Given the description of an element on the screen output the (x, y) to click on. 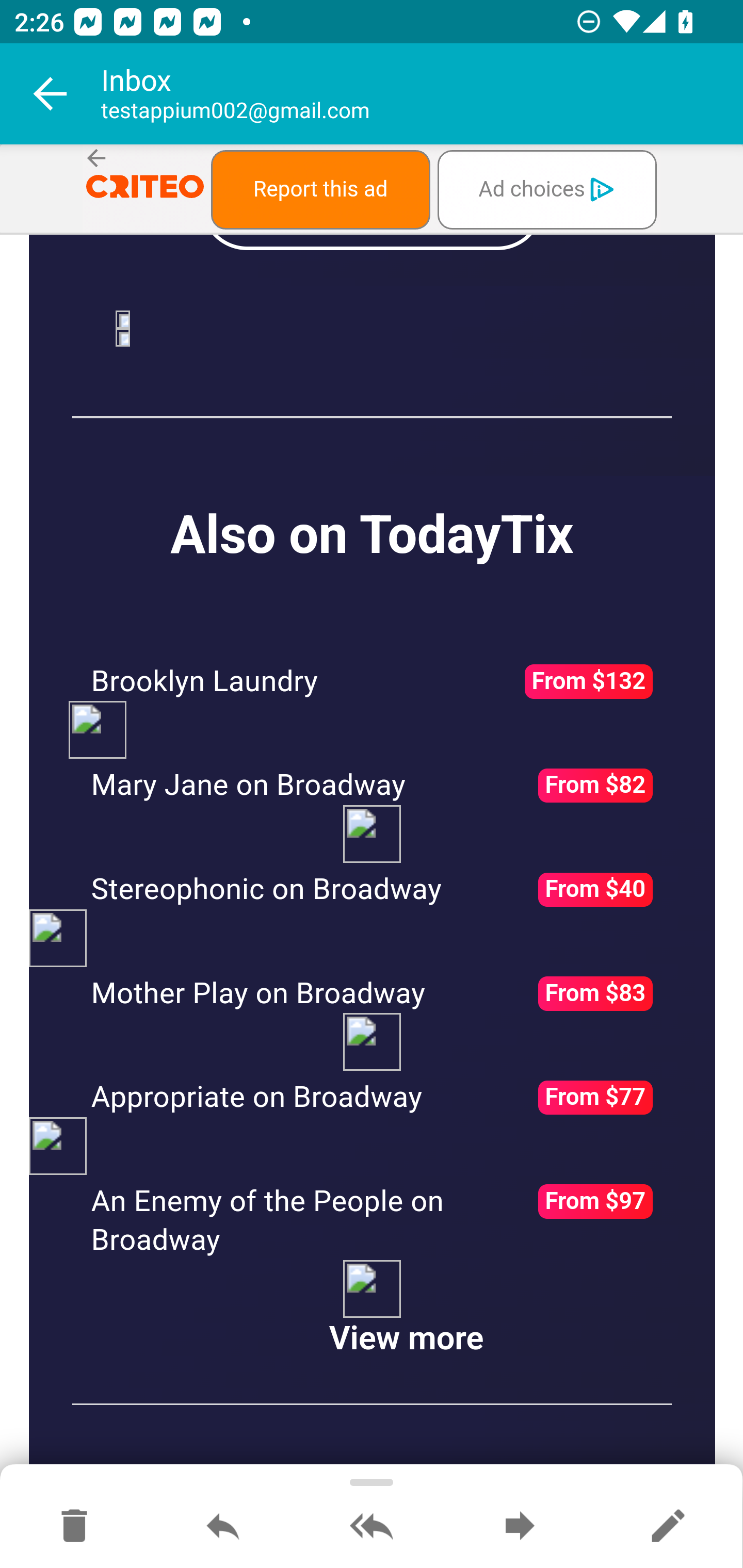
Navigate up (50, 93)
Inbox testappium002@gmail.com (422, 93)
back_button2 (96, 159)
   (178, 189)
Report this ad (319, 188)
Ad choices Ad choices privacy (546, 188)
Brooklyn Laundry (204, 682)
Mary Jane on Broadway (248, 786)
Stereophonic on Broadway (266, 891)
Mother Play on Broadway (258, 994)
Appropriate on Broadway (257, 1098)
An Enemy of the People on Broadway (267, 1221)
View more (405, 1341)
Move to Deleted (74, 1527)
Reply (222, 1527)
Reply all (371, 1527)
Forward (519, 1527)
Reply as new (667, 1527)
